Given the description of an element on the screen output the (x, y) to click on. 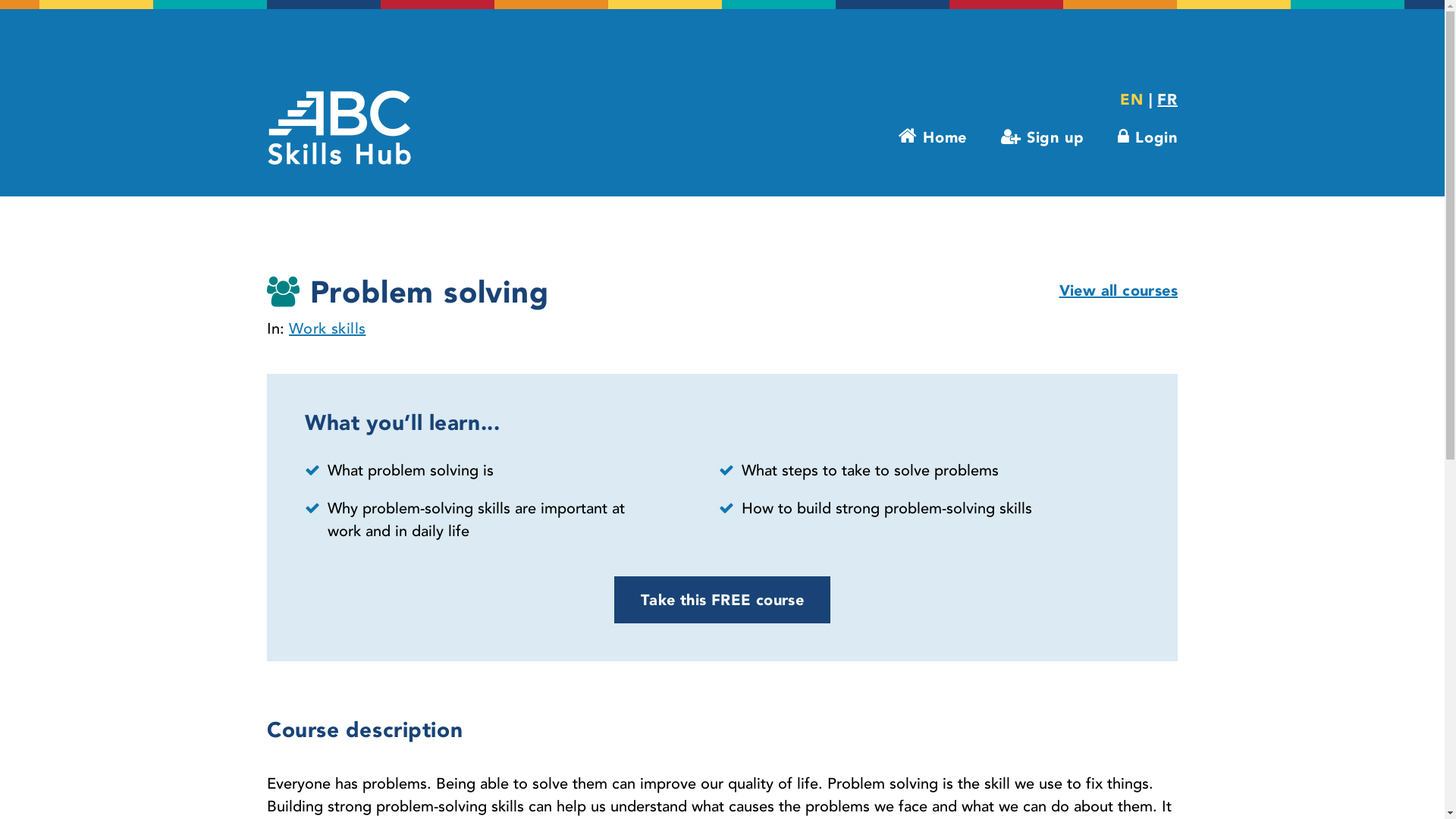
Home Element type: text (932, 136)
ABC Life Literacy Canada Element type: hover (339, 127)
FR Element type: text (1167, 99)
Sign up Element type: text (1042, 136)
Take this FREE course Element type: text (722, 599)
Work skills Element type: text (326, 329)
View all courses Element type: text (1118, 290)
Login Element type: text (1147, 136)
EN Element type: text (1131, 99)
